Given the description of an element on the screen output the (x, y) to click on. 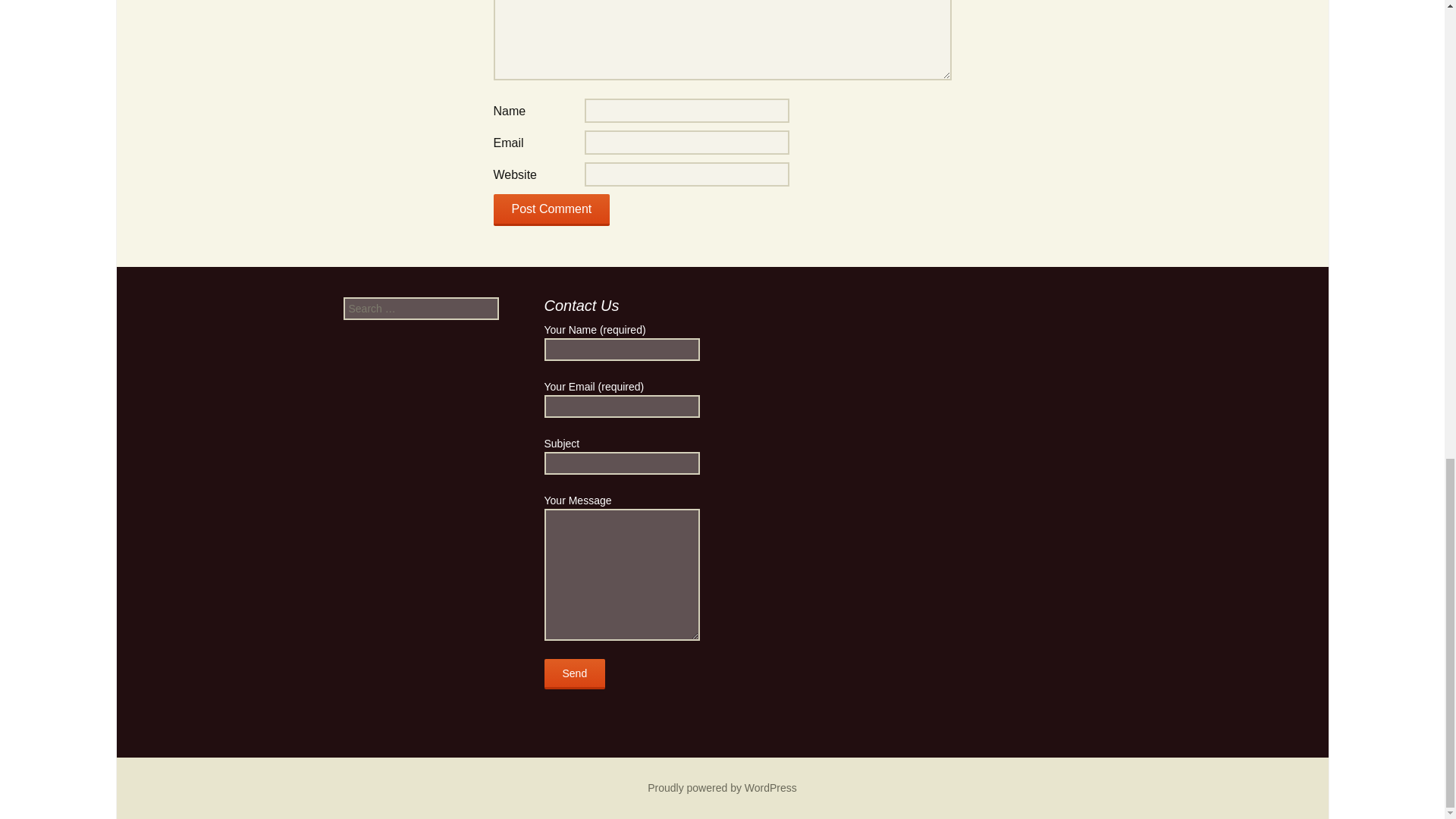
Send (574, 674)
Send (574, 674)
Post Comment (551, 210)
Post Comment (551, 210)
Proudly powered by WordPress (721, 787)
